Given the description of an element on the screen output the (x, y) to click on. 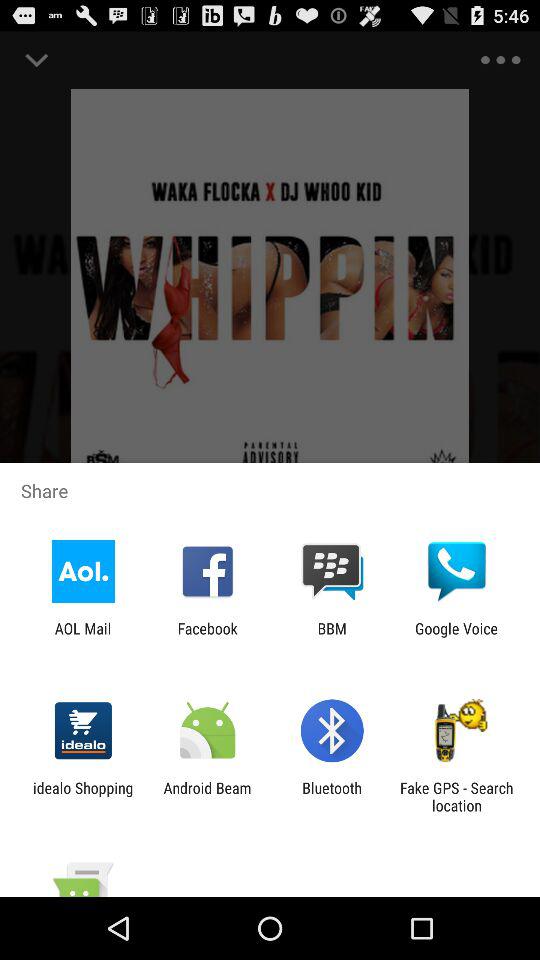
select the item next to android beam app (83, 796)
